Given the description of an element on the screen output the (x, y) to click on. 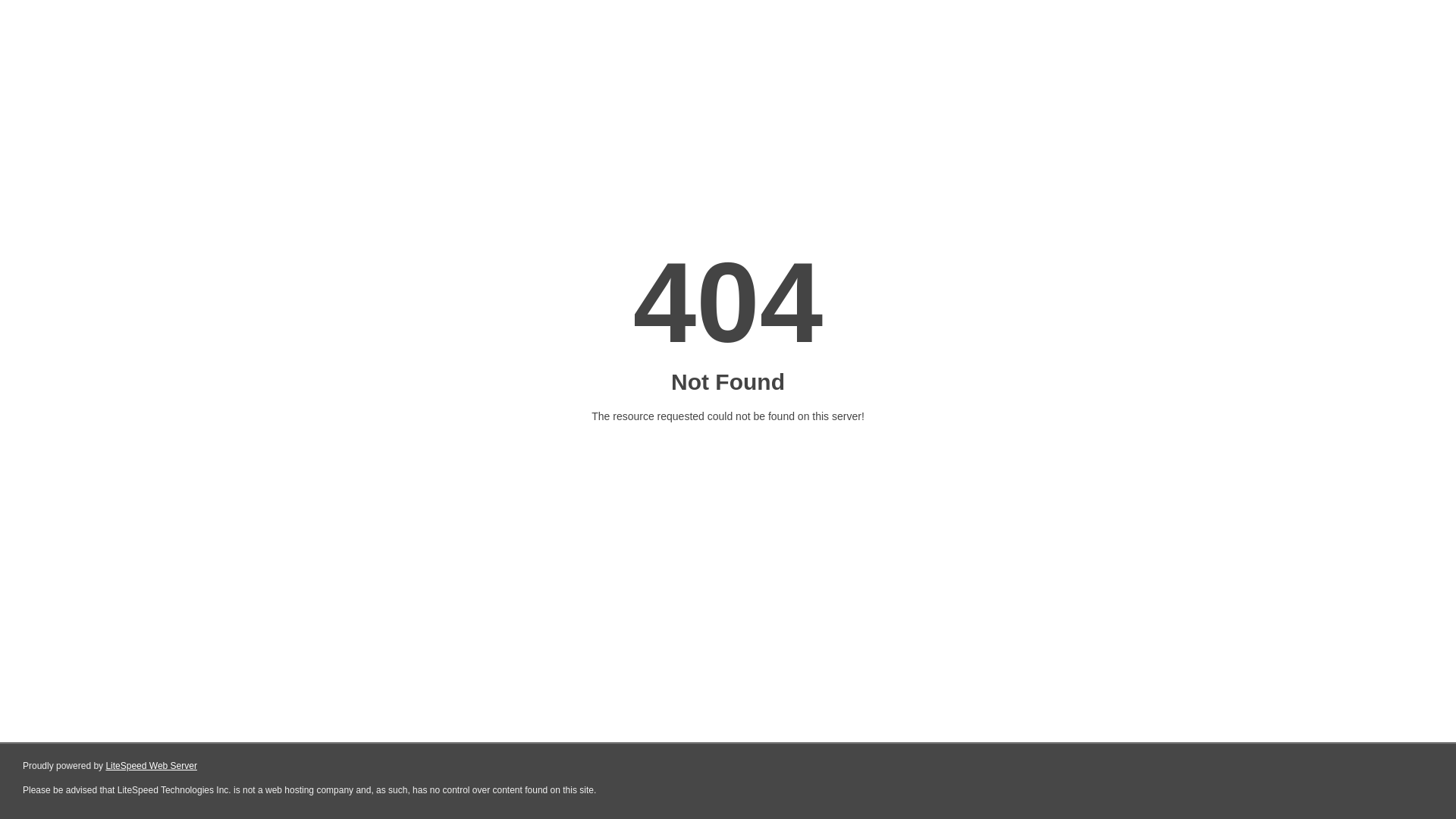
LiteSpeed Web Server Element type: text (151, 765)
